Given the description of an element on the screen output the (x, y) to click on. 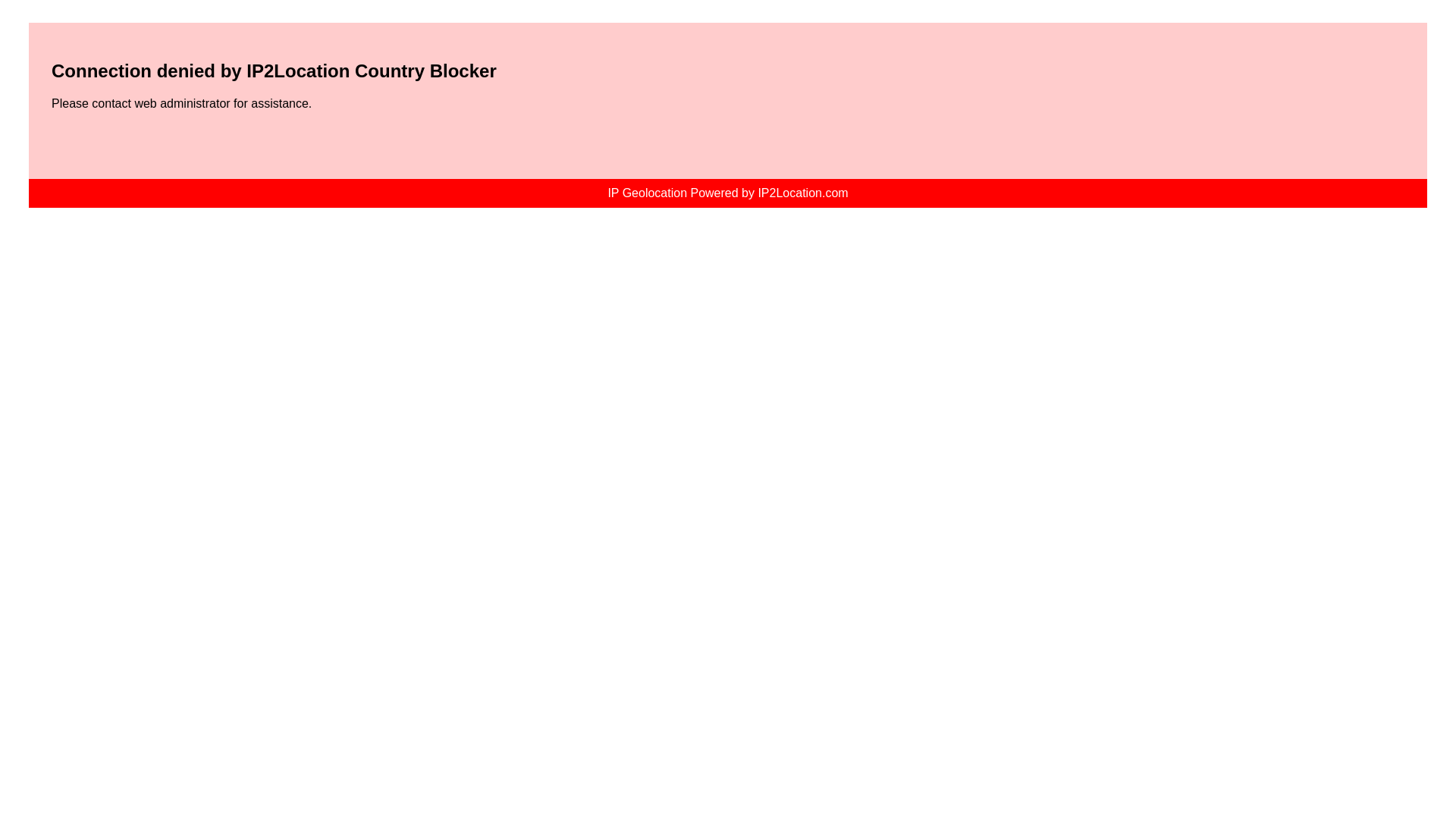
IP Geolocation Powered by IP2Location.com (727, 192)
